Given the description of an element on the screen output the (x, y) to click on. 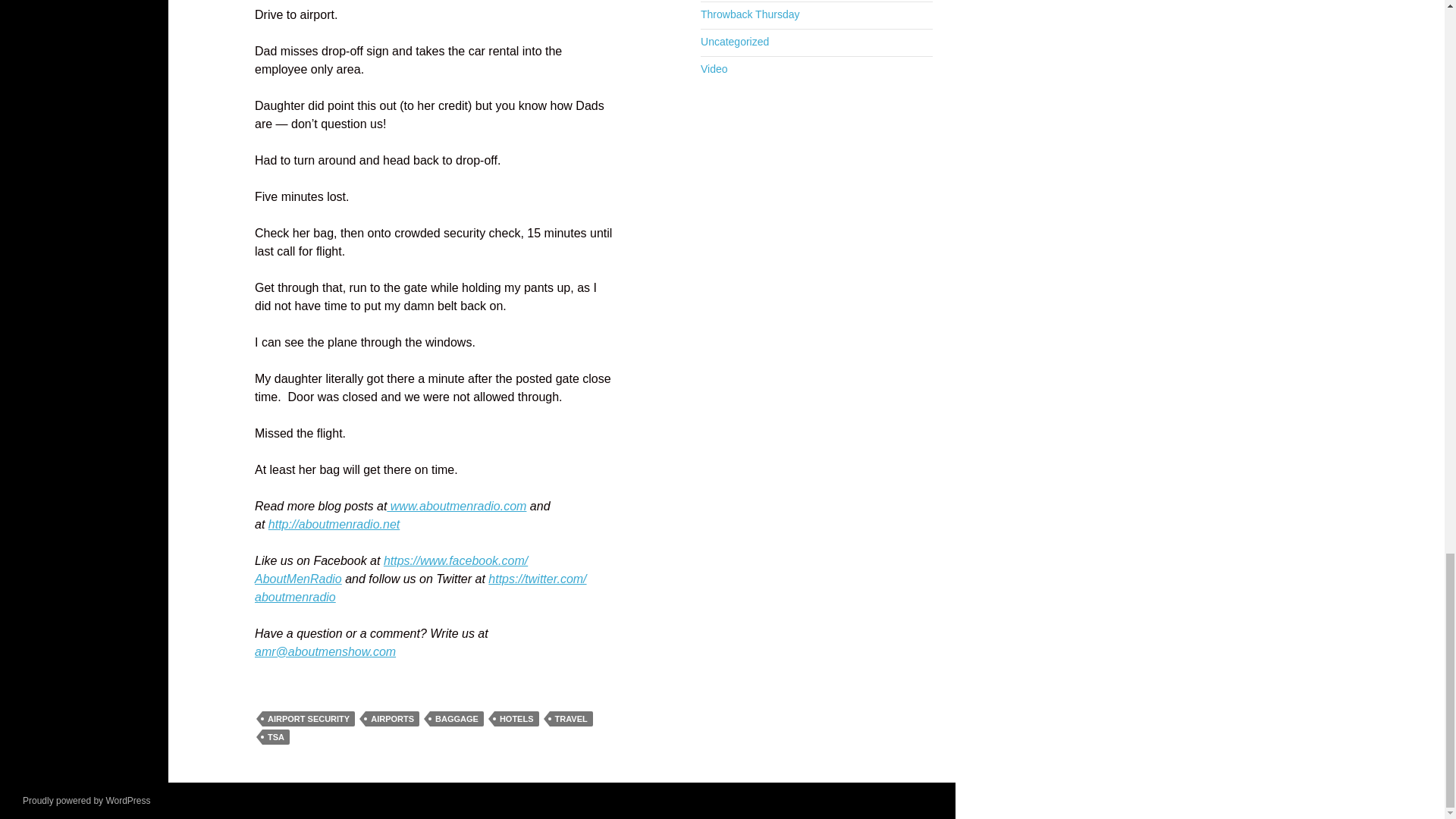
HOTELS (516, 718)
TSA (275, 736)
 www.aboutmenradio.com (456, 505)
AIRPORTS (392, 718)
BAGGAGE (456, 718)
TRAVEL (570, 718)
AIRPORT SECURITY (308, 718)
